Given the description of an element on the screen output the (x, y) to click on. 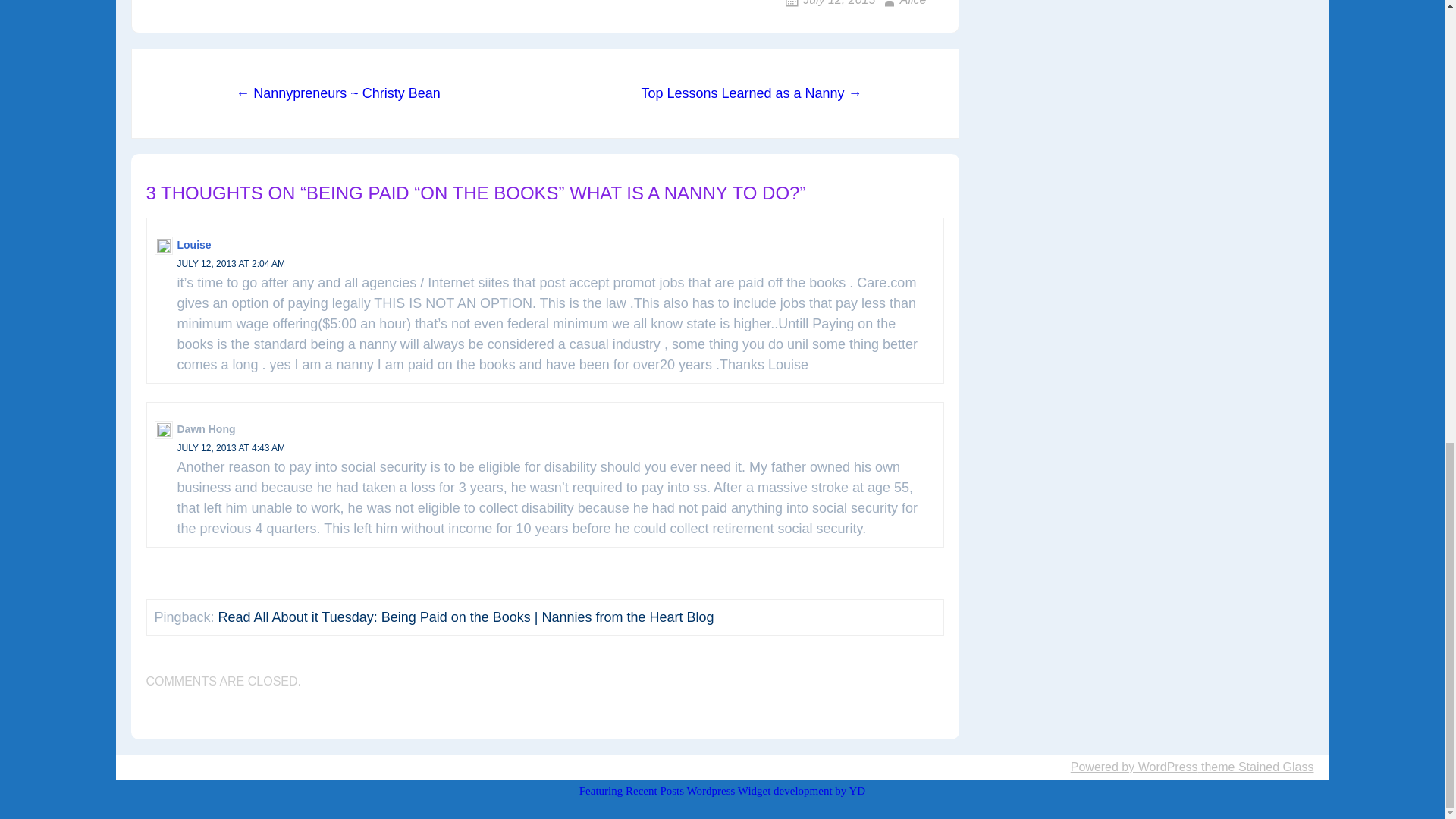
July 12, 2013 (828, 2)
Alice (902, 2)
